Given the description of an element on the screen output the (x, y) to click on. 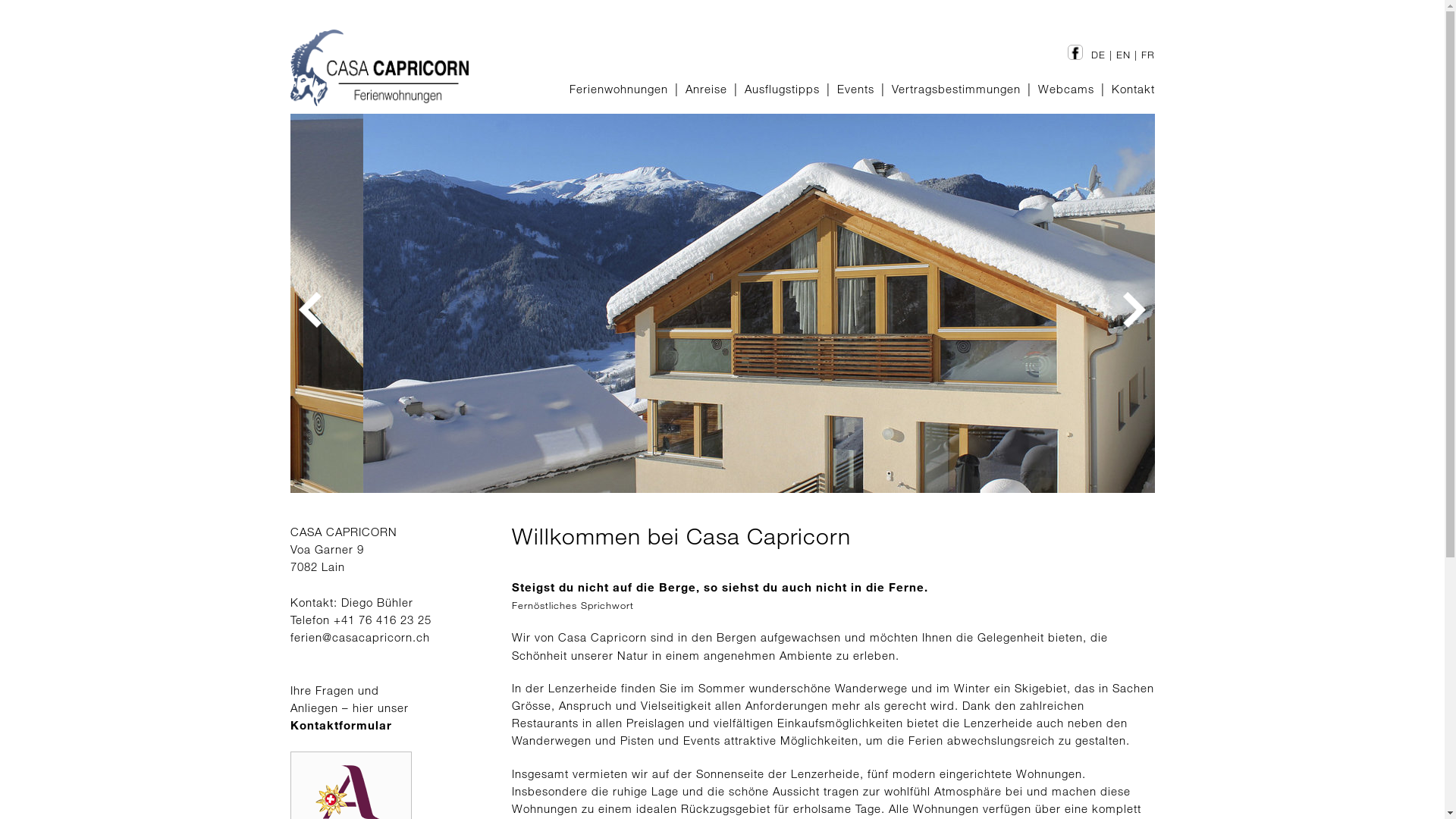
Vertragsbestimmungen Element type: text (955, 88)
Anreise Element type: text (706, 88)
EN Element type: text (1123, 54)
ferien@casacapricorn.ch Element type: text (359, 636)
Kontakt Element type: text (1132, 88)
FR Element type: text (1147, 54)
Ausflugstipps Element type: text (781, 88)
Ferienwohnungen Element type: text (617, 88)
Kontaktformular Element type: text (340, 724)
DE Element type: text (1097, 54)
Events Element type: text (855, 88)
Webcams Element type: text (1065, 88)
